Given the description of an element on the screen output the (x, y) to click on. 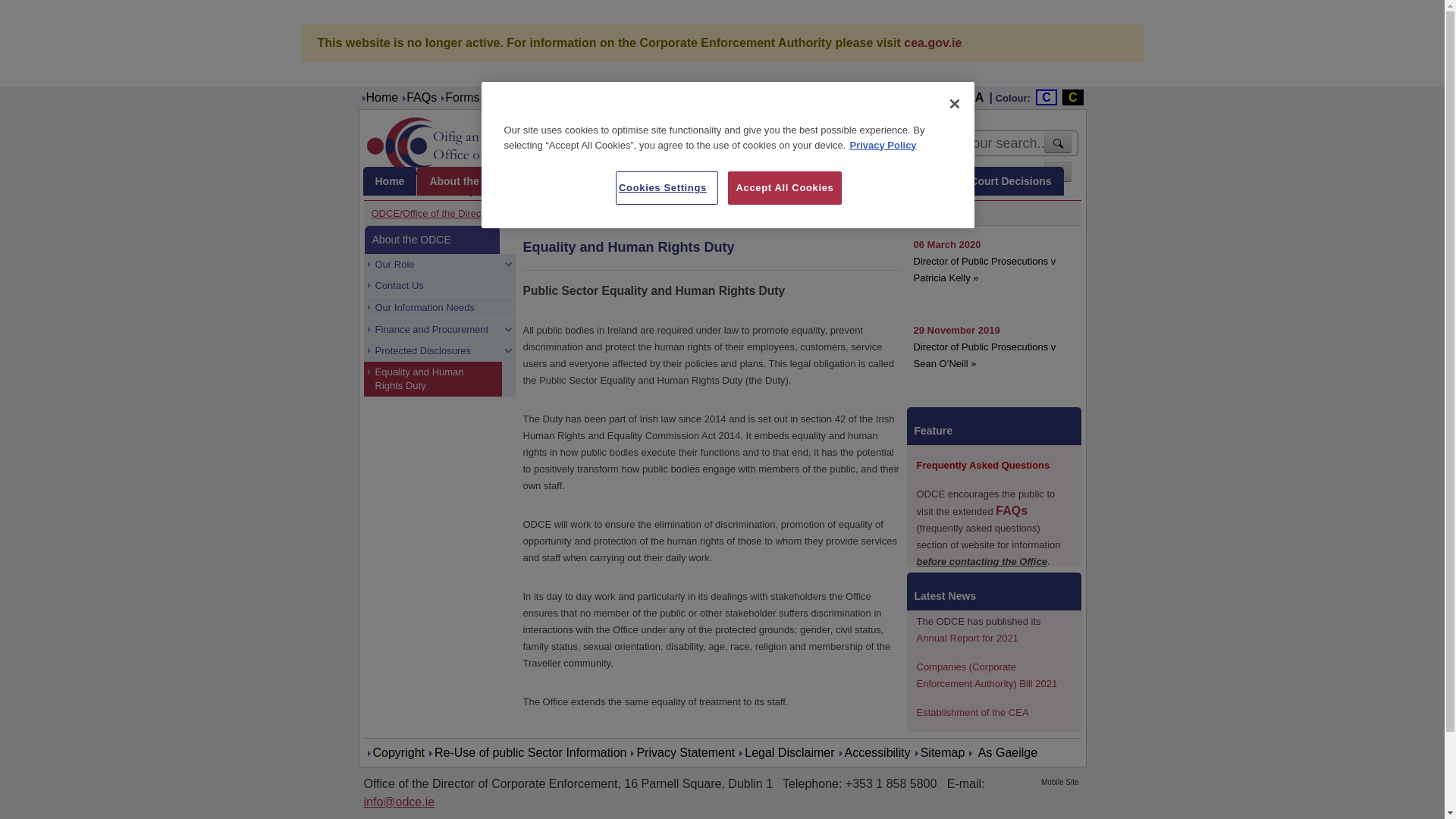
Finance and Procurement (433, 329)
Our Role (433, 264)
Our Information Needs (433, 307)
Forms and Procedures (507, 97)
Useful Links (609, 97)
Contact Us (433, 285)
Office of the Director of Corporate Enforcement (550, 144)
Contact Us (680, 97)
Home (381, 97)
C (1046, 97)
FAQs (421, 97)
Home (389, 181)
Court Decisions (1010, 181)
About the ODCE (470, 181)
C (1072, 97)
